Given the description of an element on the screen output the (x, y) to click on. 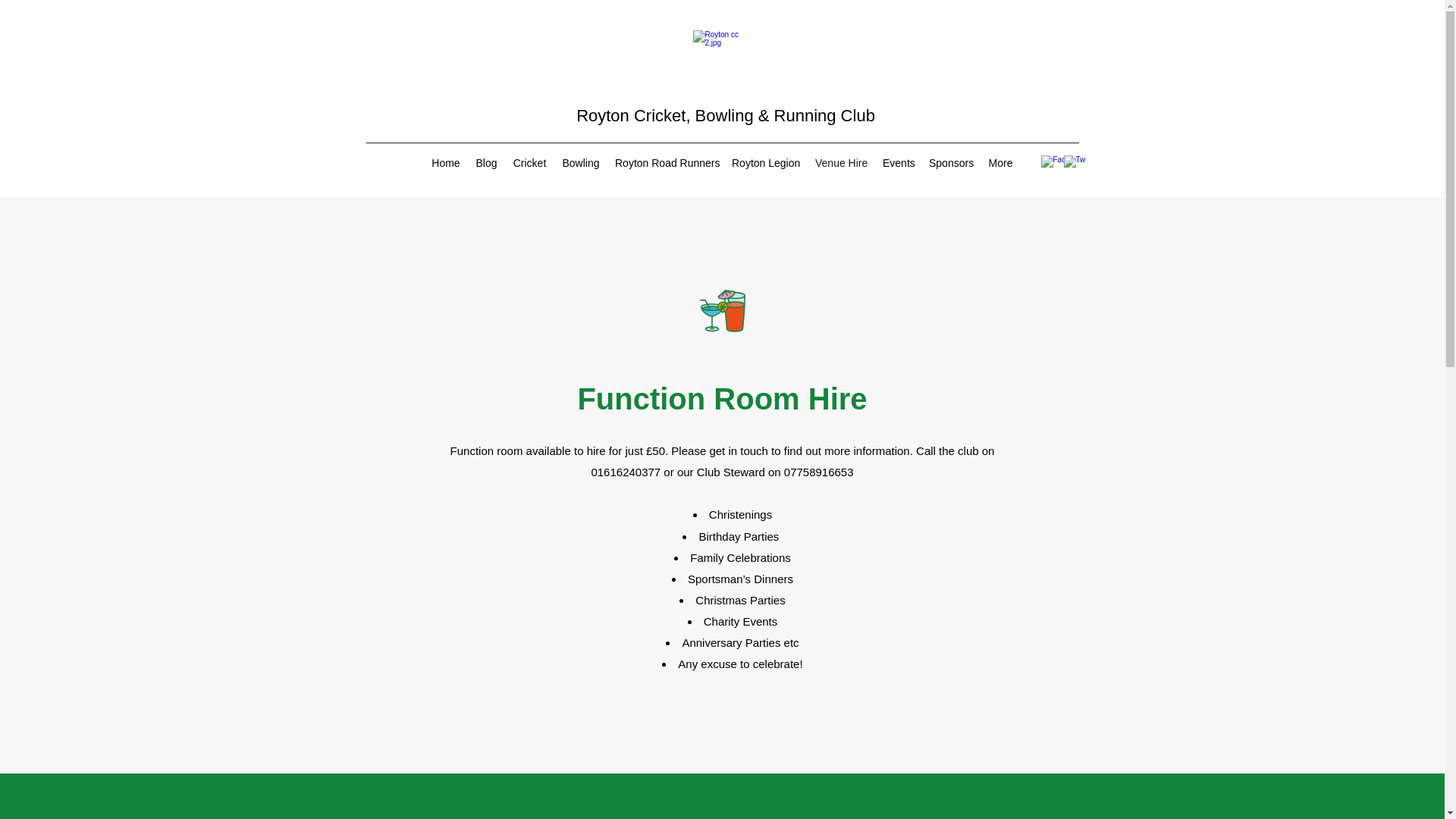
Blog (486, 162)
Venue Hire (841, 162)
Royton Road Runners (665, 162)
Royton Legion (765, 162)
Cricket (529, 162)
Sponsors (950, 162)
Bowling (580, 162)
Home (445, 162)
Events (898, 162)
